Given the description of an element on the screen output the (x, y) to click on. 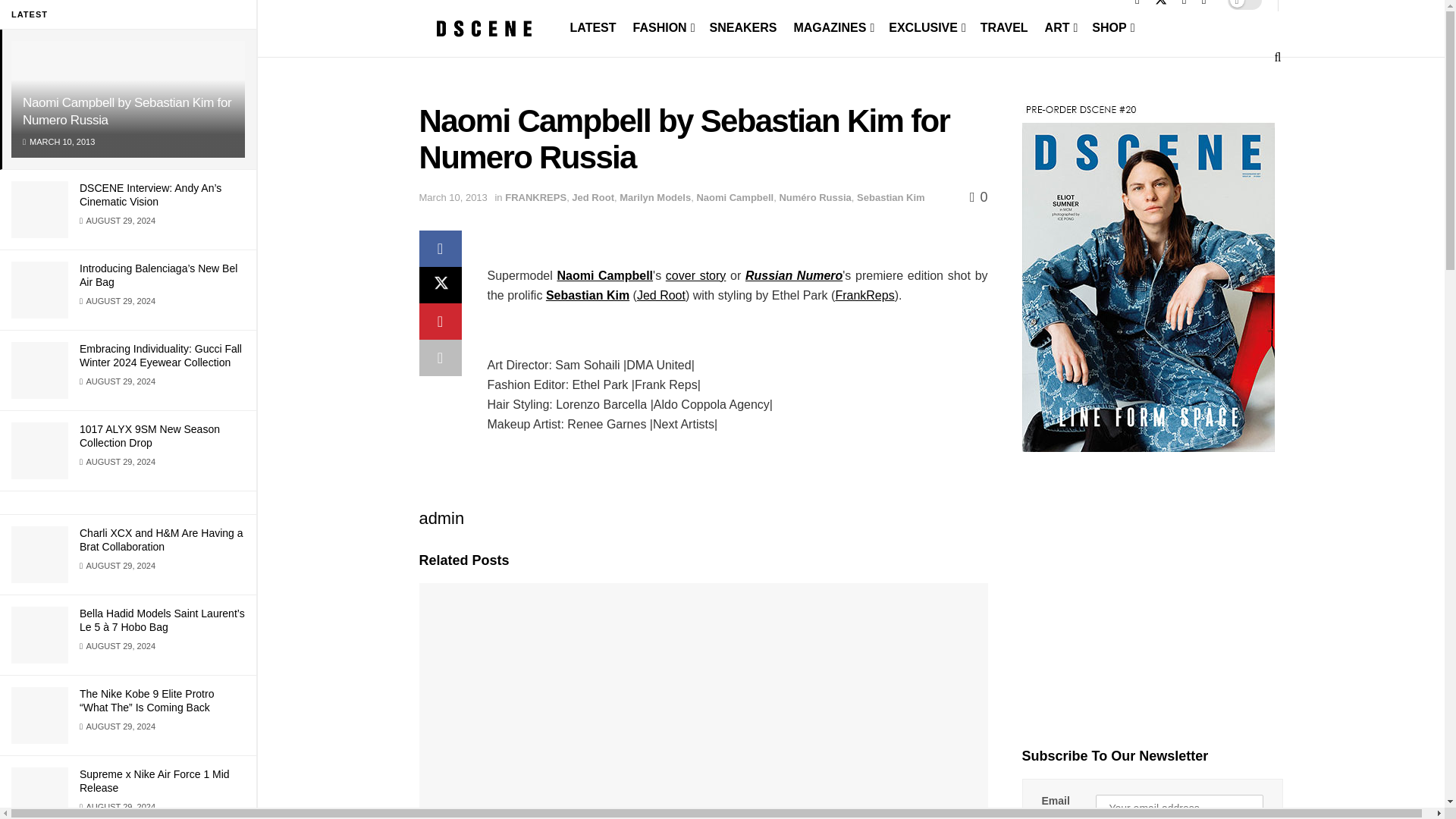
1017 ALYX 9SM New Season Collection Drop (149, 435)
Supreme x Nike Air Force 1 Mid Release (155, 780)
FASHION (663, 27)
Naomi Campbell by Sebastian Kim for Numero Russia (127, 111)
LATEST (592, 27)
